Given the description of an element on the screen output the (x, y) to click on. 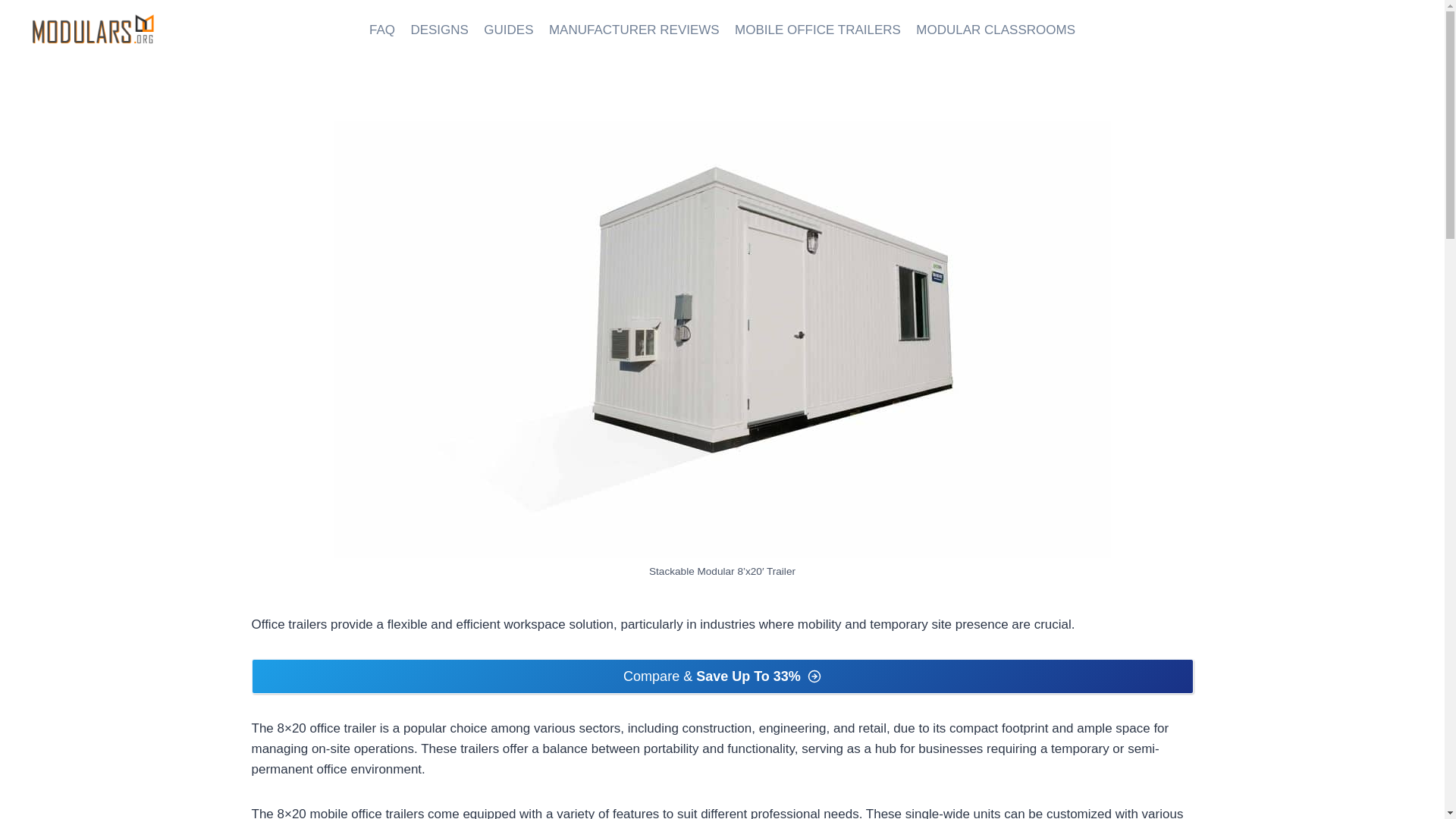
MOBILE OFFICE TRAILERS (817, 30)
FAQ (382, 30)
MODULAR CLASSROOMS (995, 30)
MANUFACTURER REVIEWS (633, 30)
DESIGNS (439, 30)
GUIDES (508, 30)
